Given the description of an element on the screen output the (x, y) to click on. 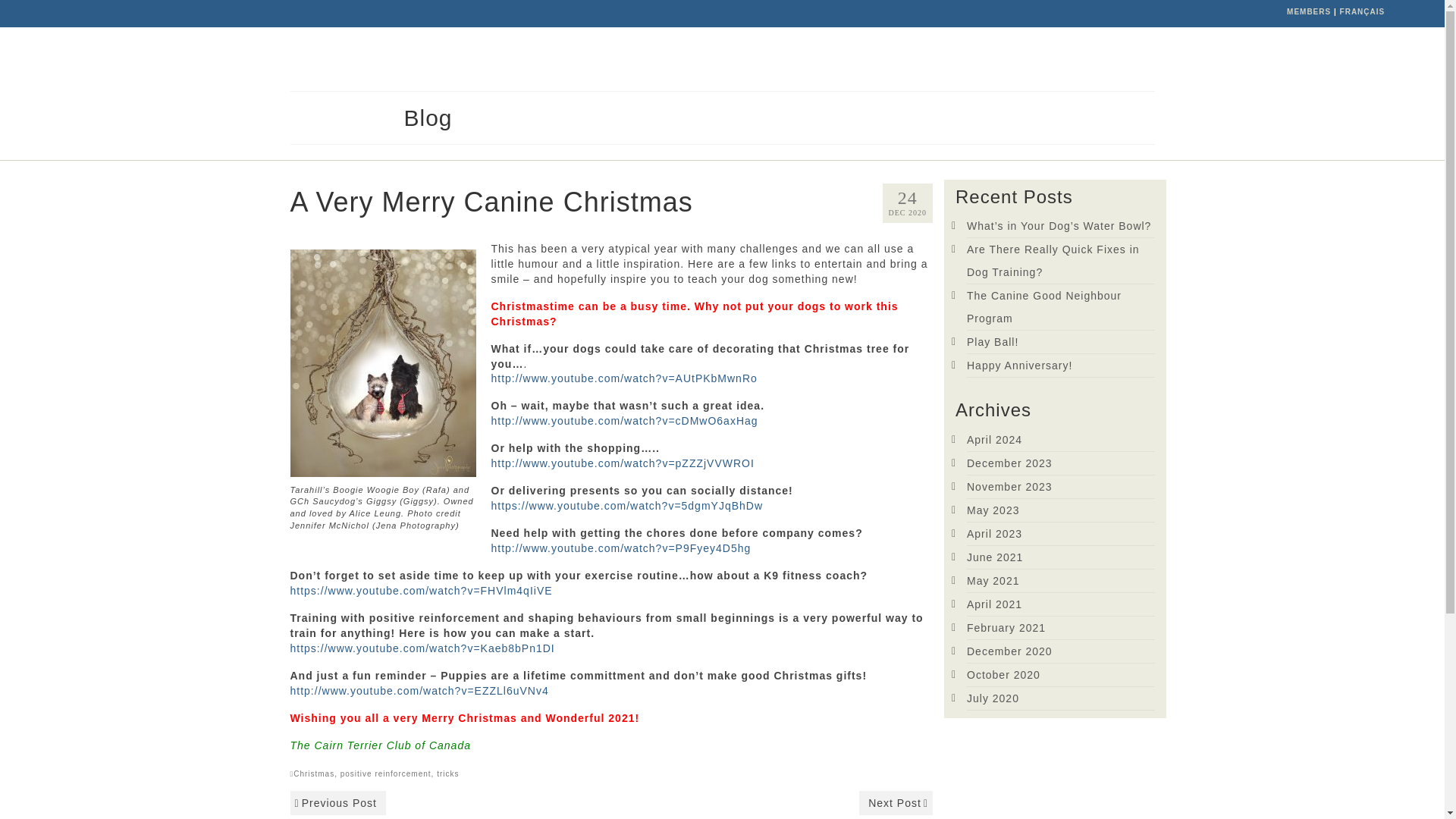
CLUB (1169, 58)
SHOP (1227, 58)
Members (1308, 11)
Cairn Terrier Club of Canada (133, 90)
RESOURCES (1093, 58)
BLOG (1287, 58)
Christmas (314, 773)
FIND A CAIRN TERRIER (971, 58)
MEMBERS (1308, 11)
CONTACT (1356, 58)
positive reinforcement (385, 773)
CAIRN TERRIERS (835, 58)
HOME (745, 58)
tricks (447, 773)
